Given the description of an element on the screen output the (x, y) to click on. 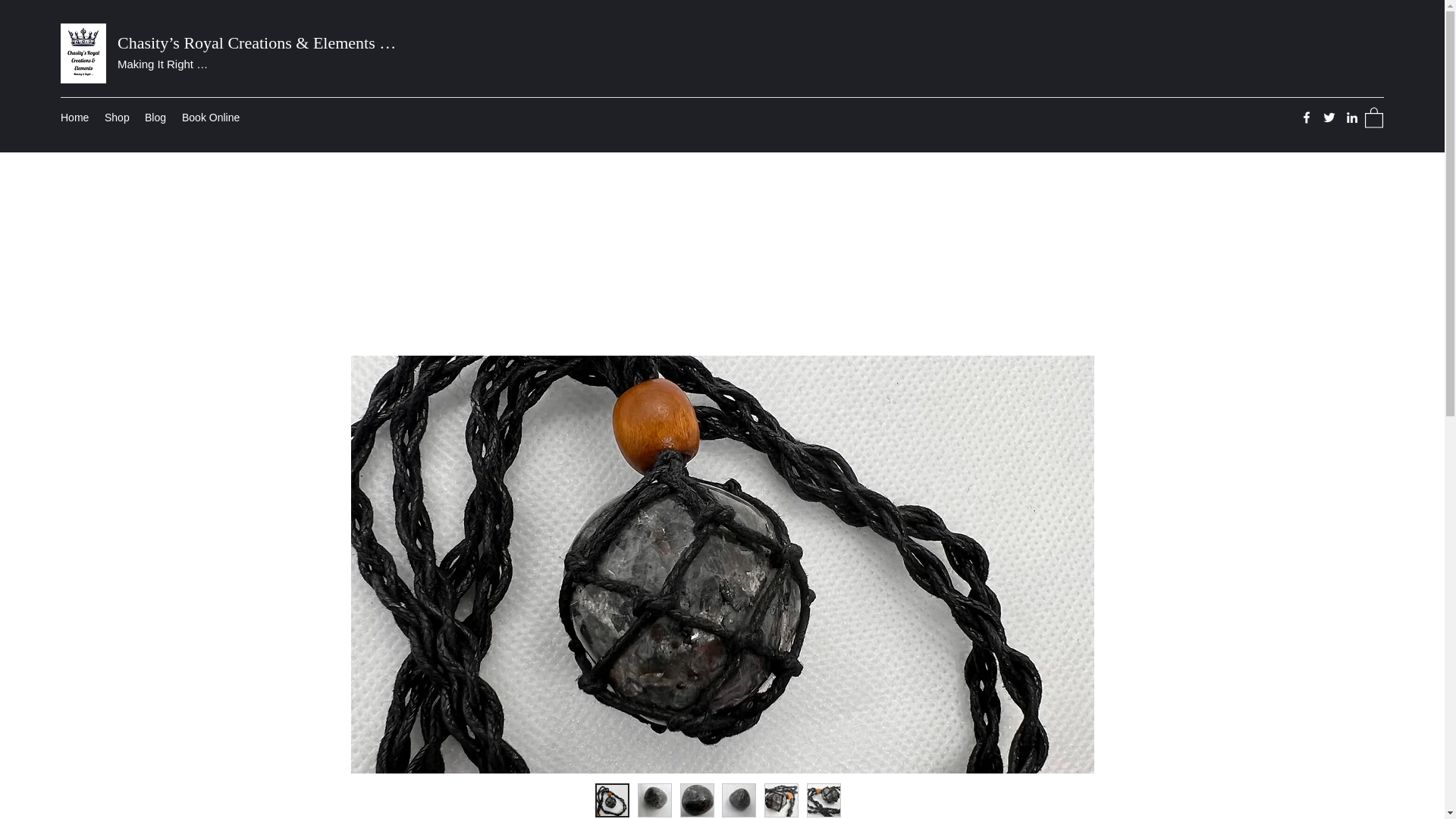
Home (74, 117)
Book Online (211, 117)
Shop (116, 117)
Blog (155, 117)
